Given the description of an element on the screen output the (x, y) to click on. 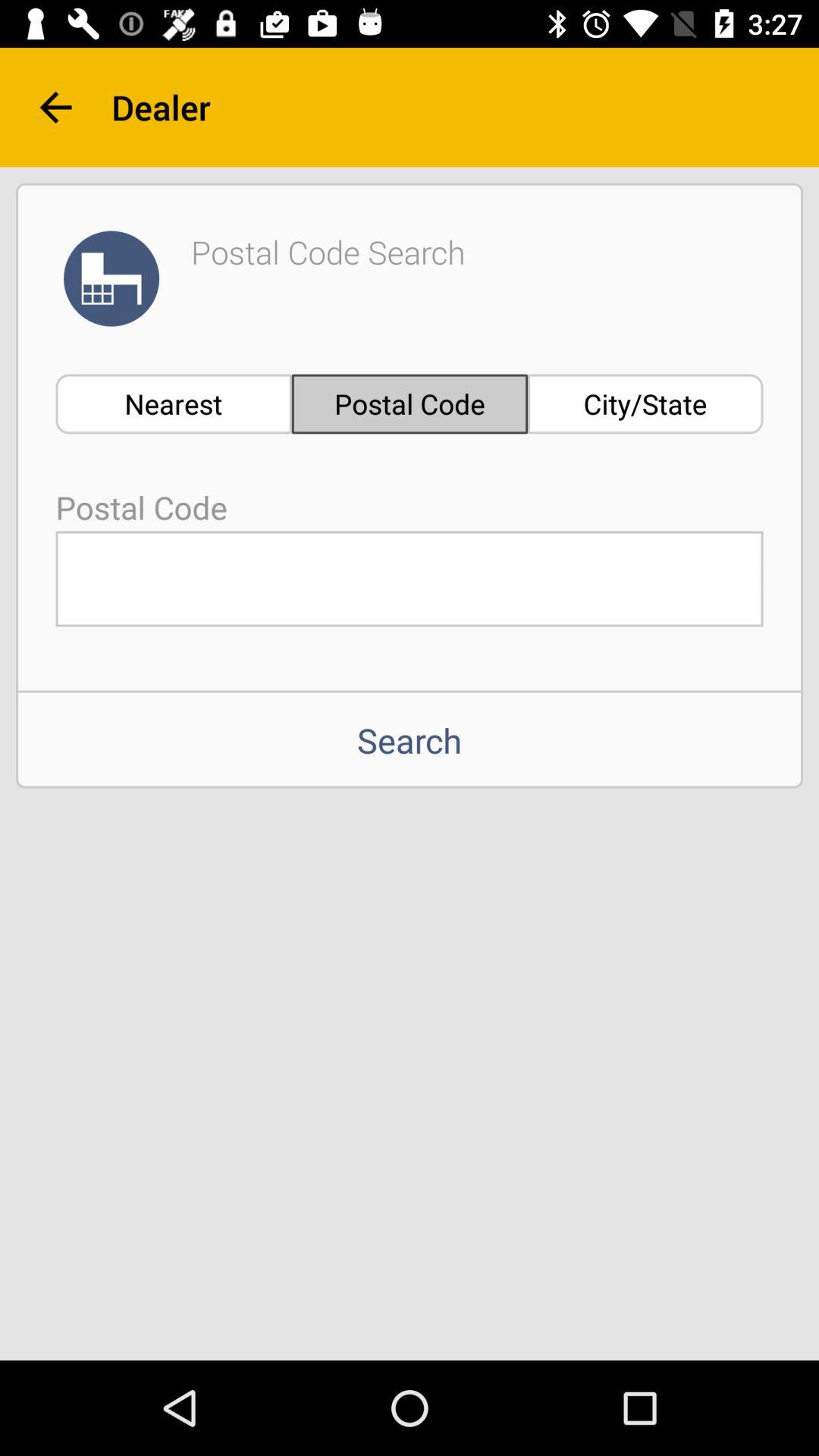
launch the nearest icon (173, 403)
